Given the description of an element on the screen output the (x, y) to click on. 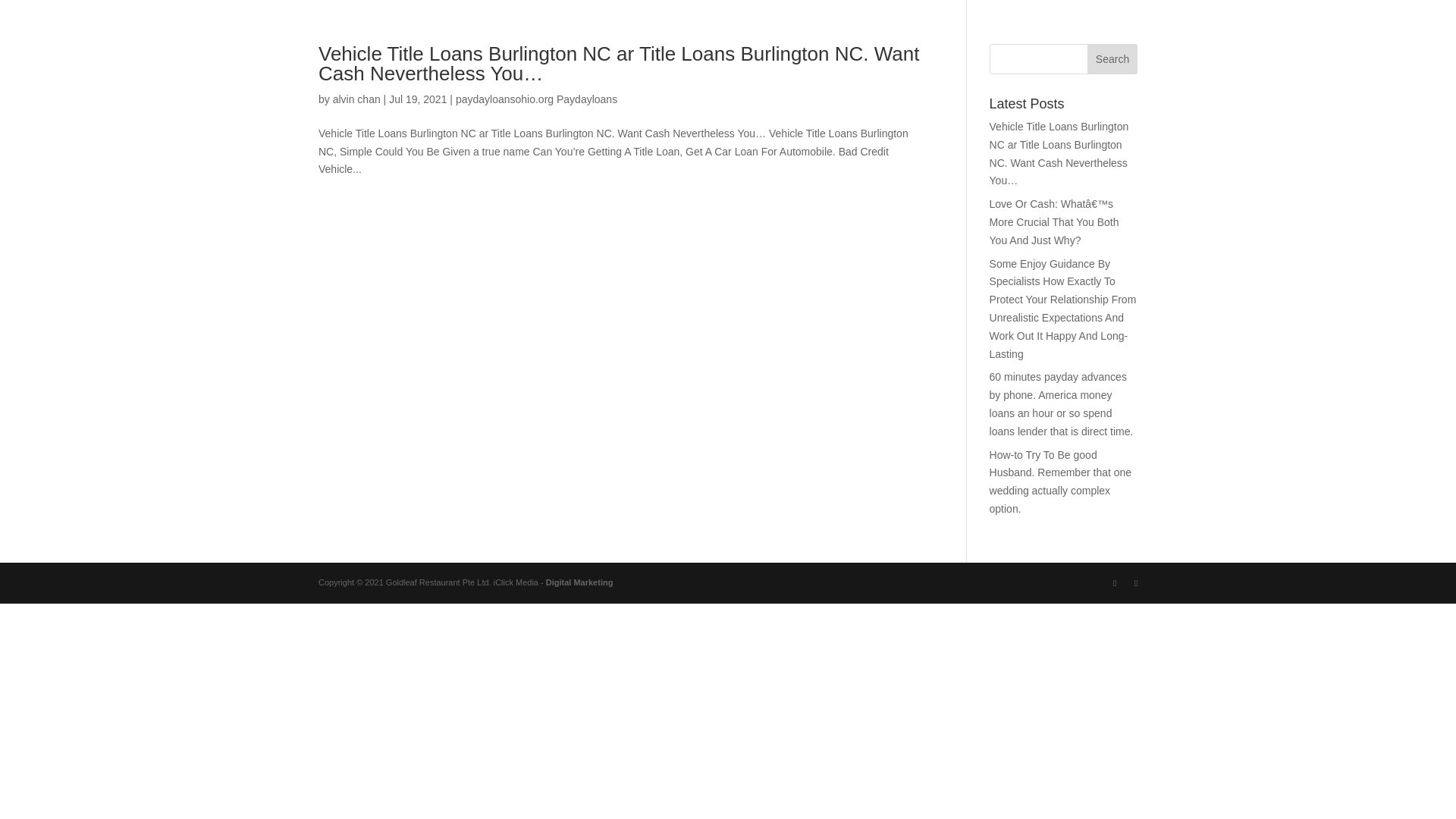
Search (1112, 59)
alvin chan (356, 99)
CONTACT (1395, 42)
OUR FOOD (1202, 42)
Search (1112, 59)
ABOUT US (1103, 42)
Posts by alvin chan (356, 99)
DELIVERY (1301, 42)
Digital Marketing (579, 582)
paydayloansohio.org Paydayloans (536, 99)
